Given the description of an element on the screen output the (x, y) to click on. 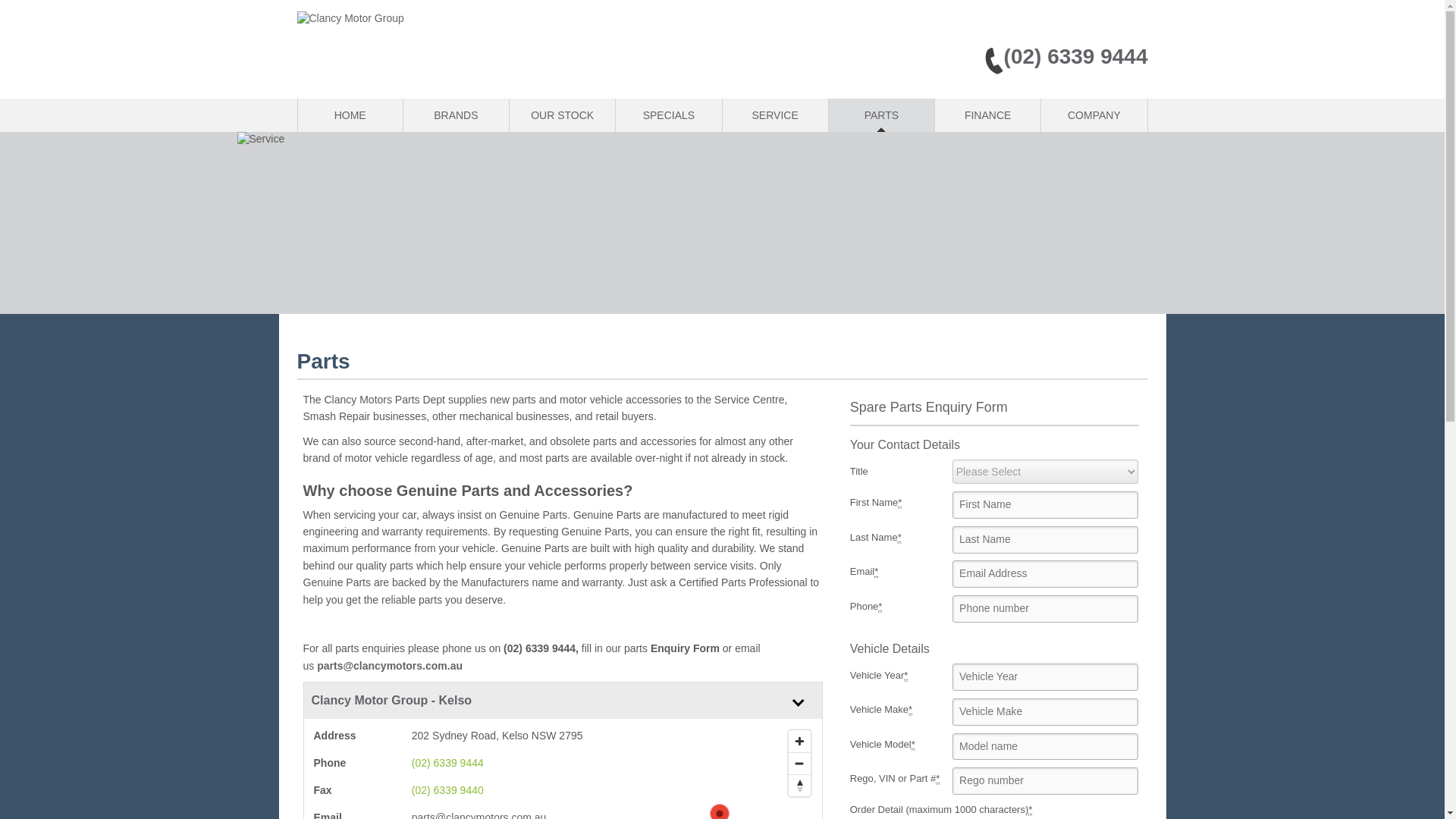
HOME (349, 114)
Our Stock (561, 114)
Parts (881, 114)
Service (774, 114)
PARTS (881, 114)
BRANDS (455, 114)
OUR STOCK (561, 114)
SERVICE (774, 114)
SPECIALS (667, 114)
Finance (987, 114)
Company  (1094, 114)
